Given the description of an element on the screen output the (x, y) to click on. 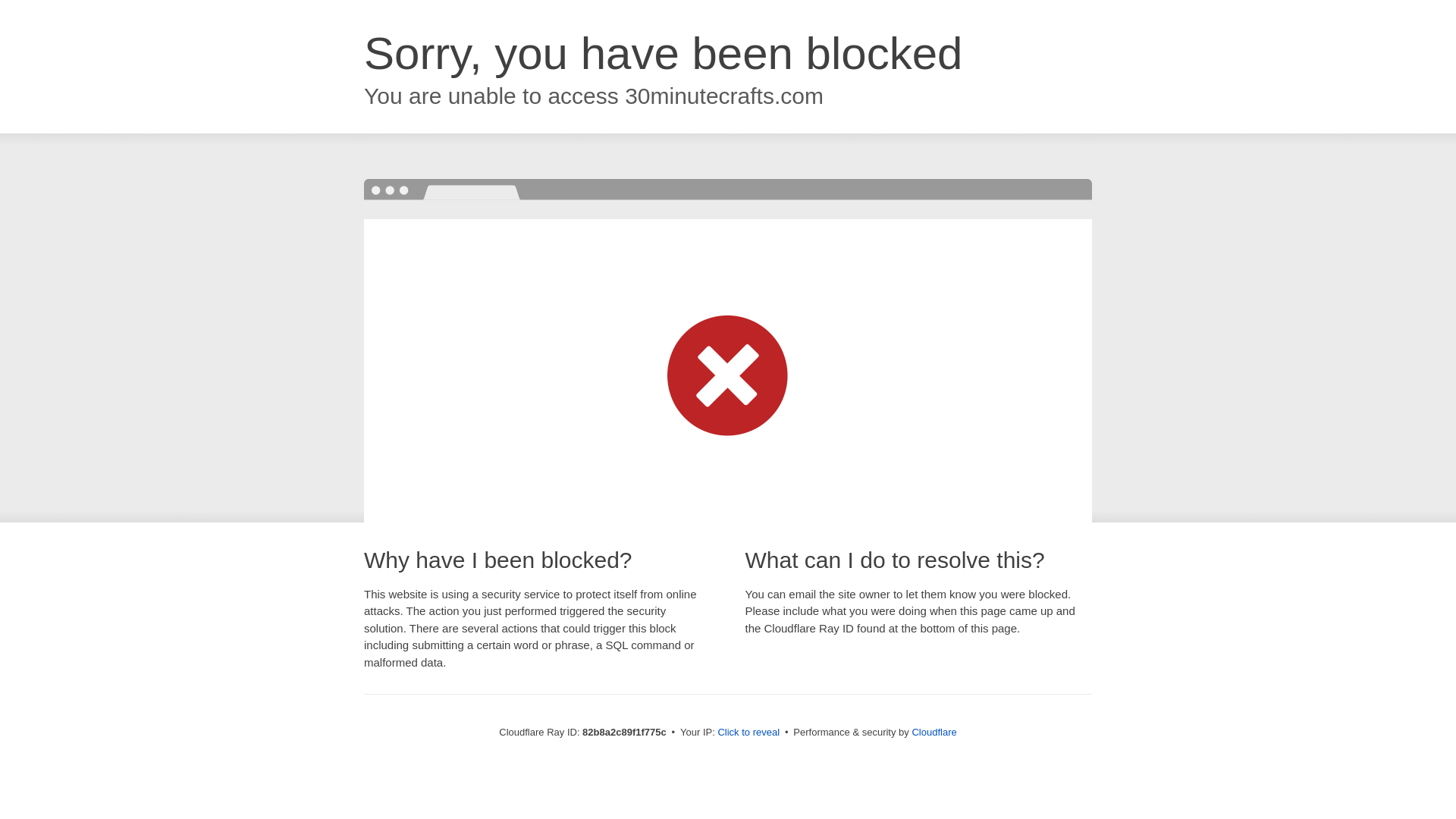
Click to reveal Element type: text (748, 732)
Cloudflare Element type: text (933, 731)
